Given the description of an element on the screen output the (x, y) to click on. 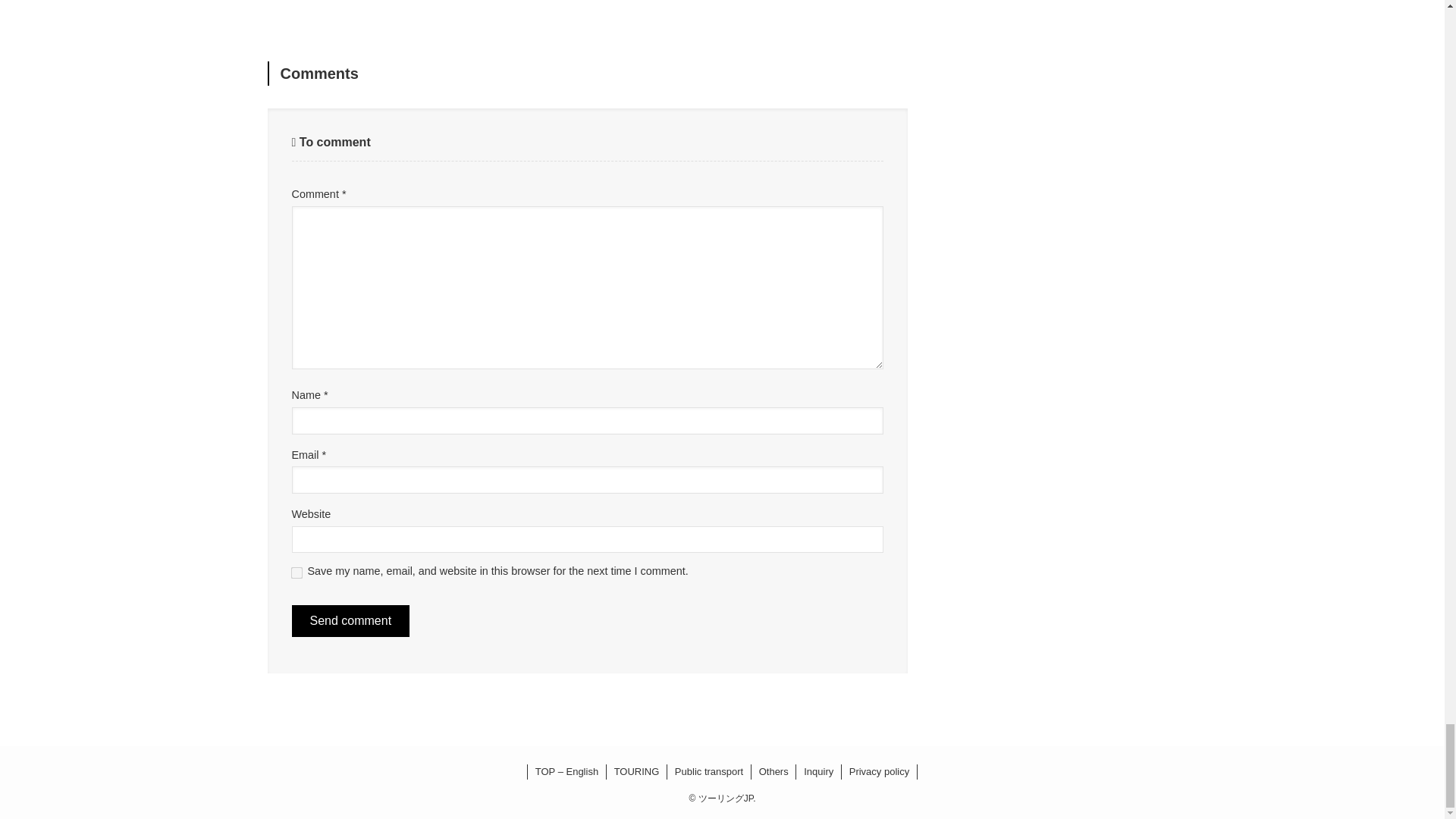
yes (294, 572)
Send comment (350, 621)
